Given the description of an element on the screen output the (x, y) to click on. 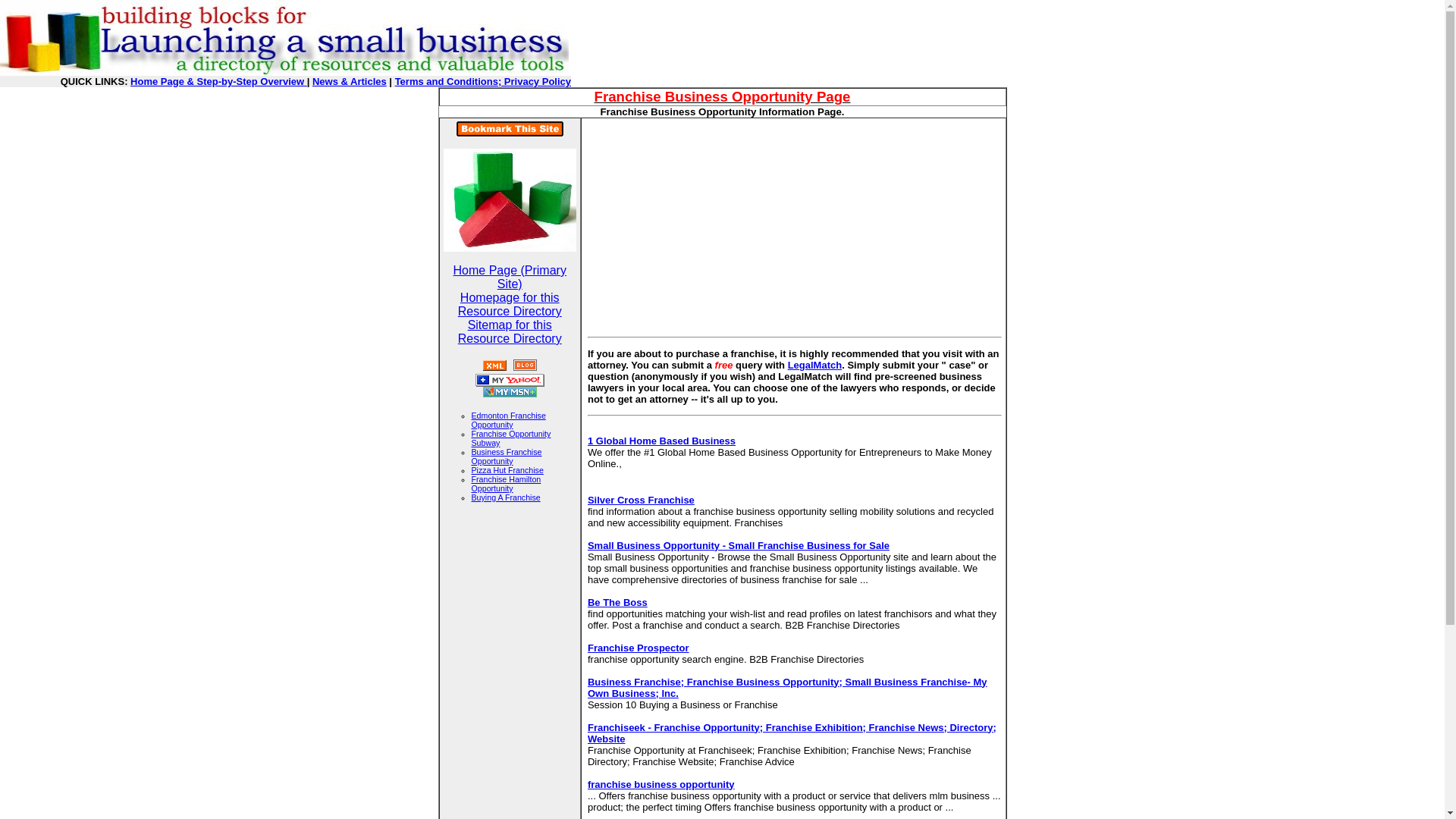
Franchise Opportunity Subway (511, 438)
Sitemap for this Resource Directory (510, 331)
Silver Cross Franchise (641, 500)
Franchise Hamilton Opportunity (506, 484)
Edmonton Franchise Opportunity (508, 420)
LegalMatch (815, 365)
franchise business opportunity (661, 783)
Franchise Prospector (638, 646)
